Given the description of an element on the screen output the (x, y) to click on. 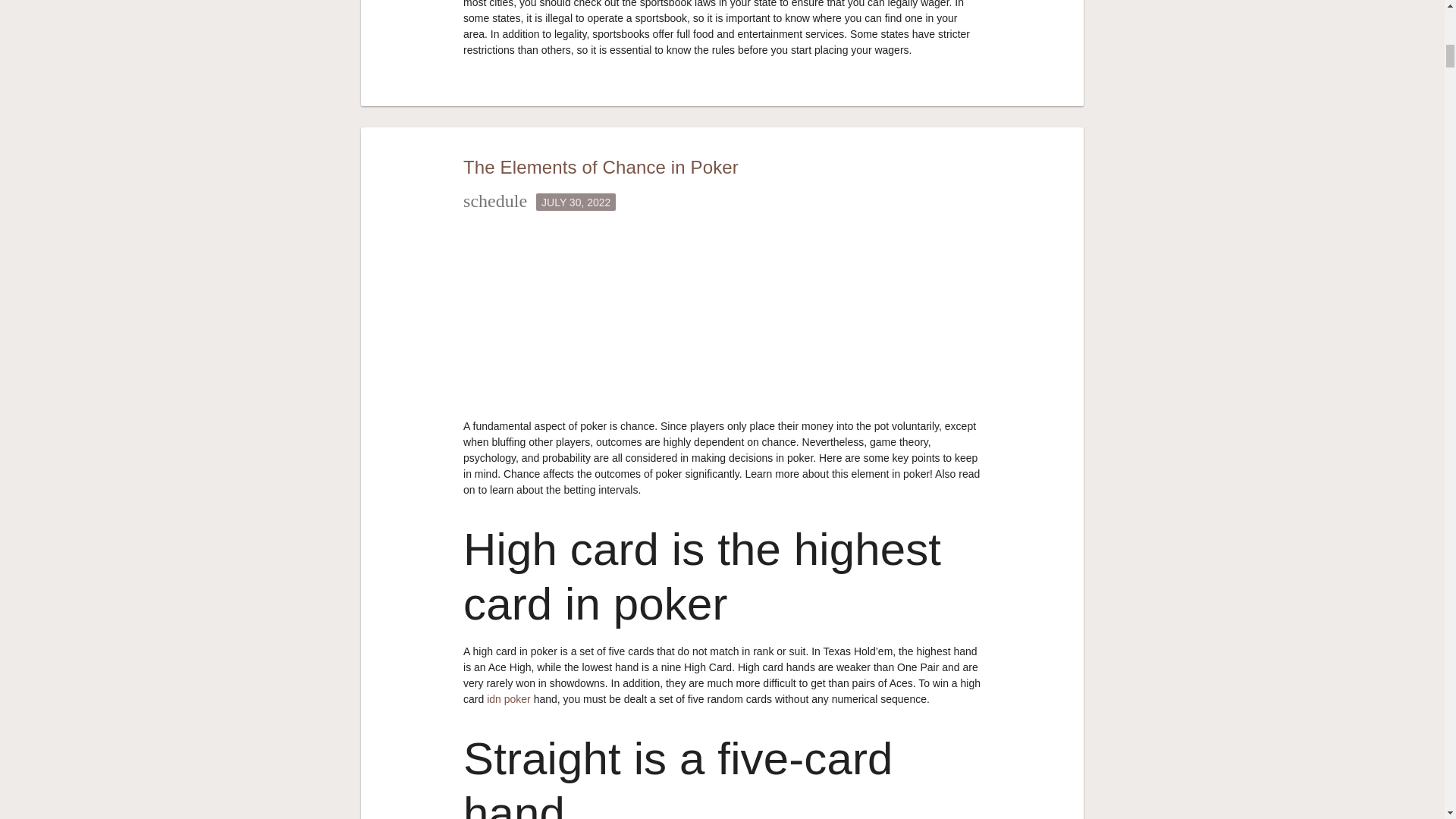
The Elements of Chance in Poker (600, 167)
idn poker (509, 698)
JULY 30, 2022 (575, 200)
